Given the description of an element on the screen output the (x, y) to click on. 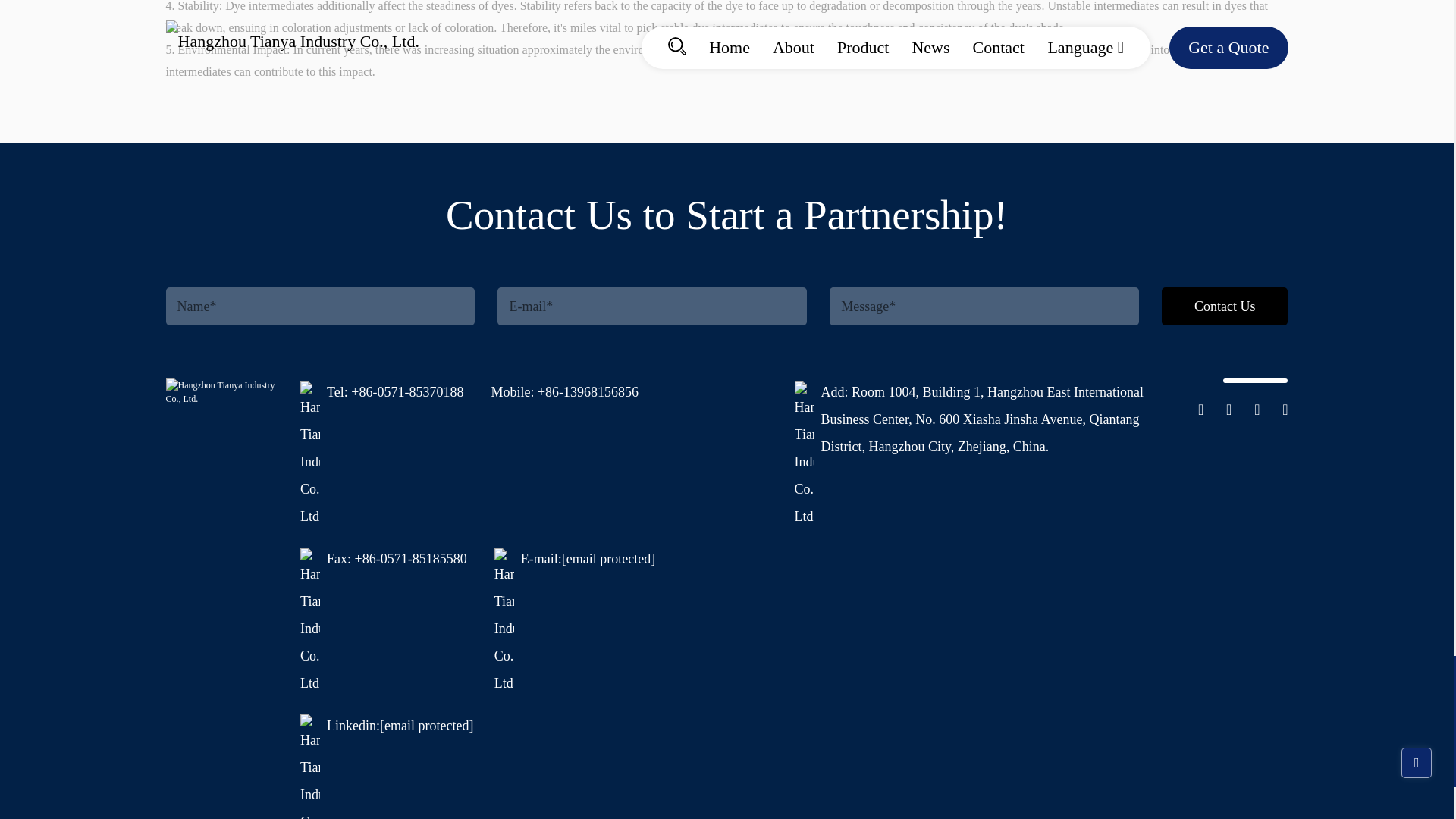
Contact Us (1224, 306)
